Given the description of an element on the screen output the (x, y) to click on. 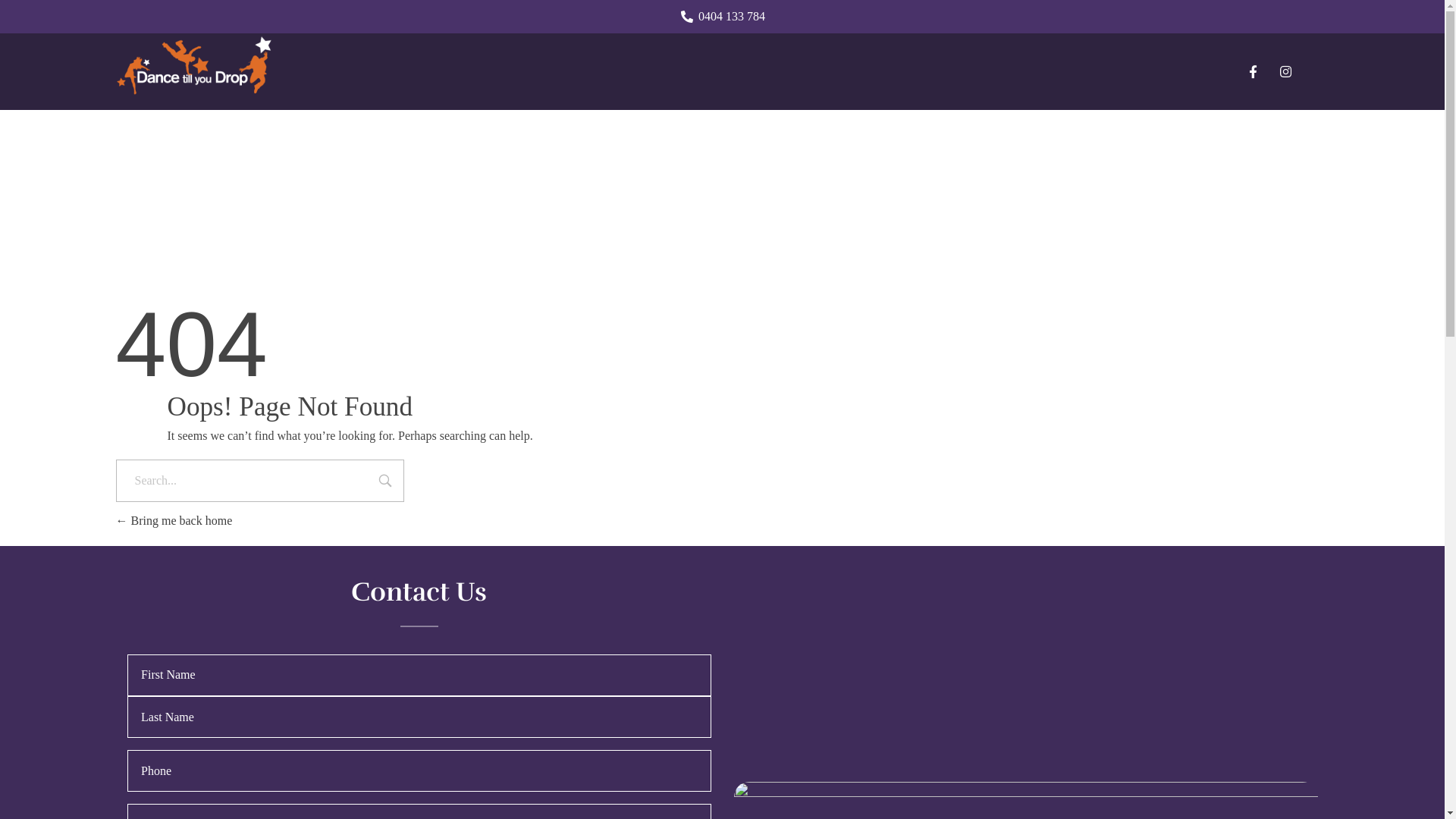
Dance Till You Drop Element type: text (200, 113)
Bring me back home Element type: text (173, 520)
Search Element type: text (385, 482)
0404 133 784 Element type: text (721, 16)
Dance Till You Drop Element type: hover (193, 68)
